Given the description of an element on the screen output the (x, y) to click on. 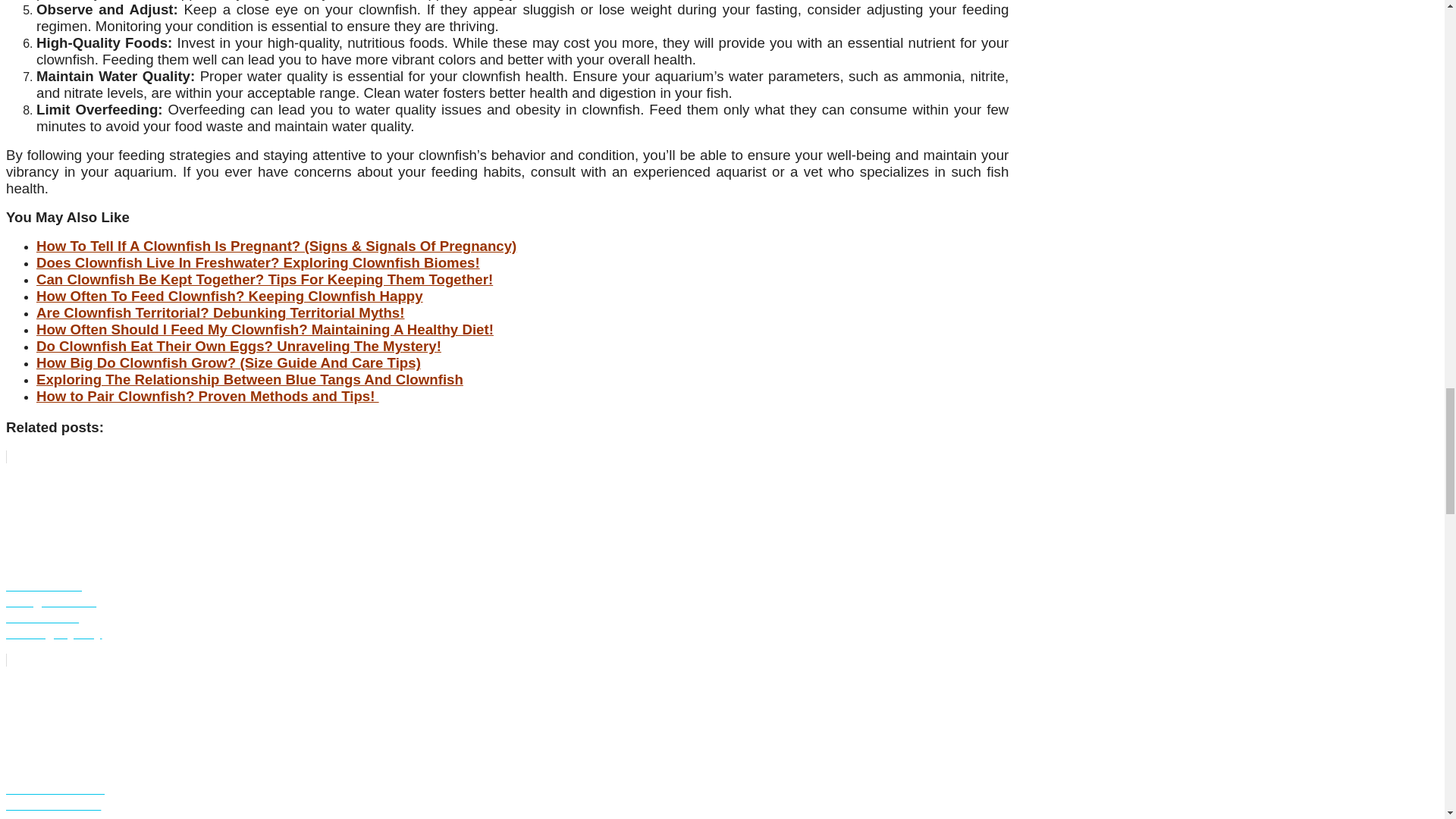
Are Clownfish Territorial? Debunking Territorial Myths! (220, 312)
How Often To Feed Clownfish? Keeping Clownfish Happy (229, 295)
How to Pair Clownfish? Proven Methods and Tips!  (207, 396)
Do Clownfish Eat Their Own Eggs? Unraveling The Mystery! (238, 345)
Exploring The Relationship Between Blue Tangs And Clownfish (249, 379)
